Given the description of an element on the screen output the (x, y) to click on. 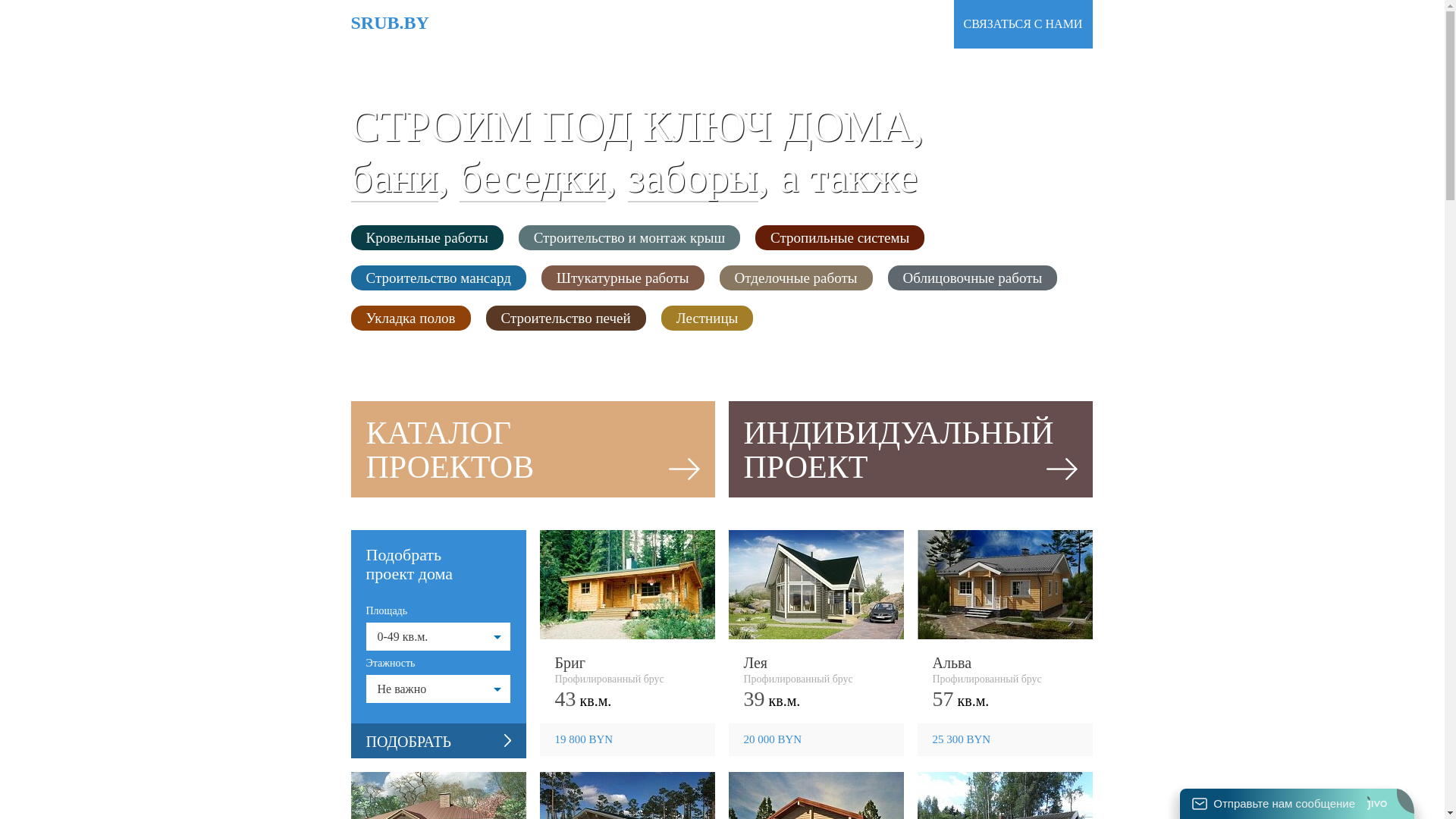
25 300 BYN Element type: text (1004, 739)
20 000 BYN Element type: text (815, 739)
19 800 BYN Element type: text (627, 739)
SRUB.BY Element type: text (389, 24)
